Given the description of an element on the screen output the (x, y) to click on. 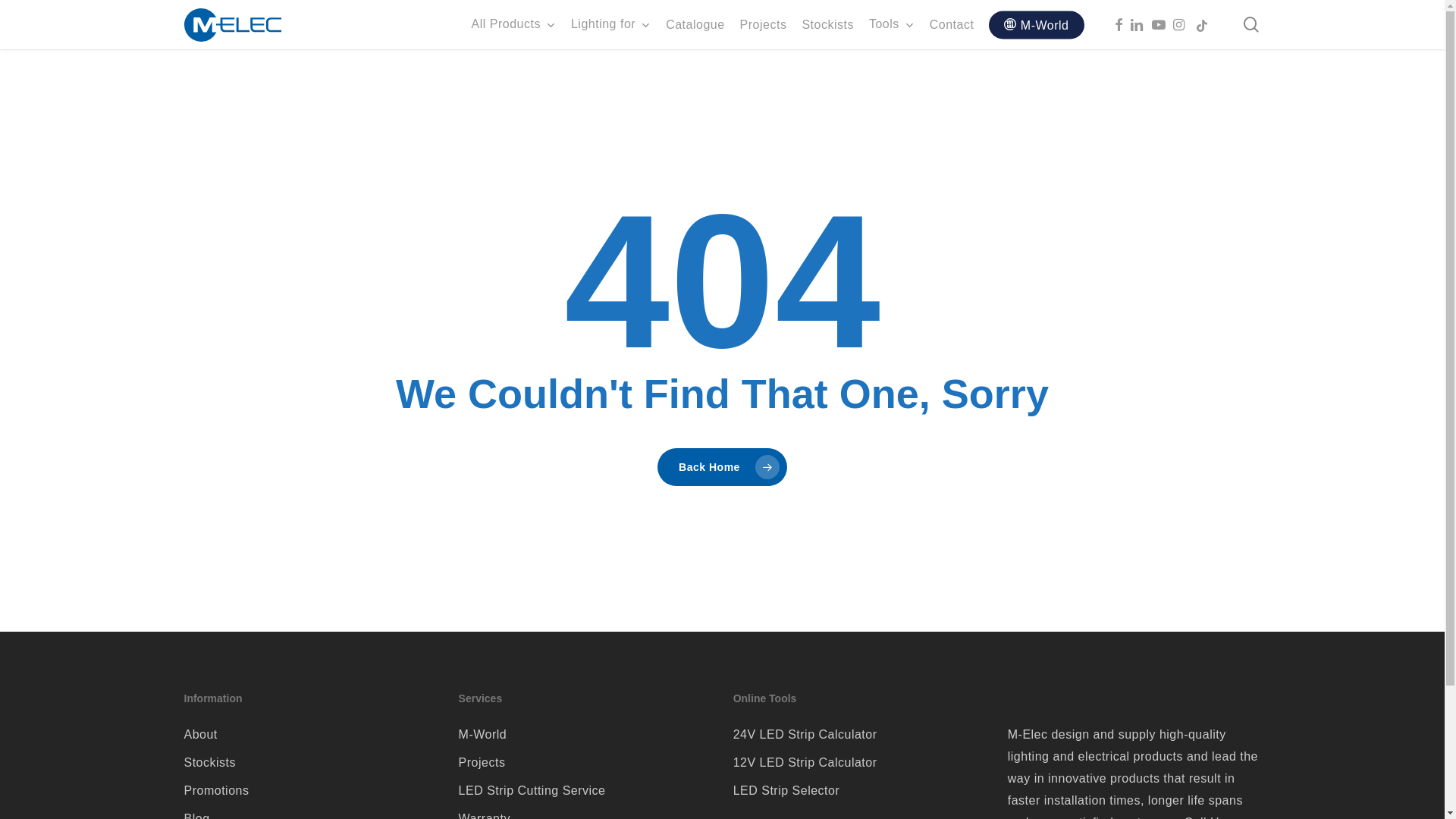
tiktok Element type: text (1205, 24)
facebook Element type: text (1122, 24)
Lighting for Element type: text (610, 24)
Projects Element type: text (763, 24)
Contact Element type: text (952, 24)
12V LED Strip Calculator Element type: text (859, 762)
24V LED Strip Calculator Element type: text (859, 734)
Projects Element type: text (585, 762)
M-World Element type: text (1035, 24)
search Element type: text (1251, 24)
instagram Element type: text (1182, 24)
Promotions Element type: text (309, 790)
Stockists Element type: text (827, 24)
LED Strip Selector Element type: text (859, 790)
LED Strip Cutting Service Element type: text (585, 790)
Catalogue Element type: text (694, 24)
Stockists Element type: text (309, 762)
All Products Element type: text (513, 24)
Back Home Element type: text (722, 467)
linkedin Element type: text (1140, 24)
youtube Element type: text (1162, 24)
Tools Element type: text (891, 24)
About Element type: text (309, 734)
M-World Element type: text (585, 734)
